Given the description of an element on the screen output the (x, y) to click on. 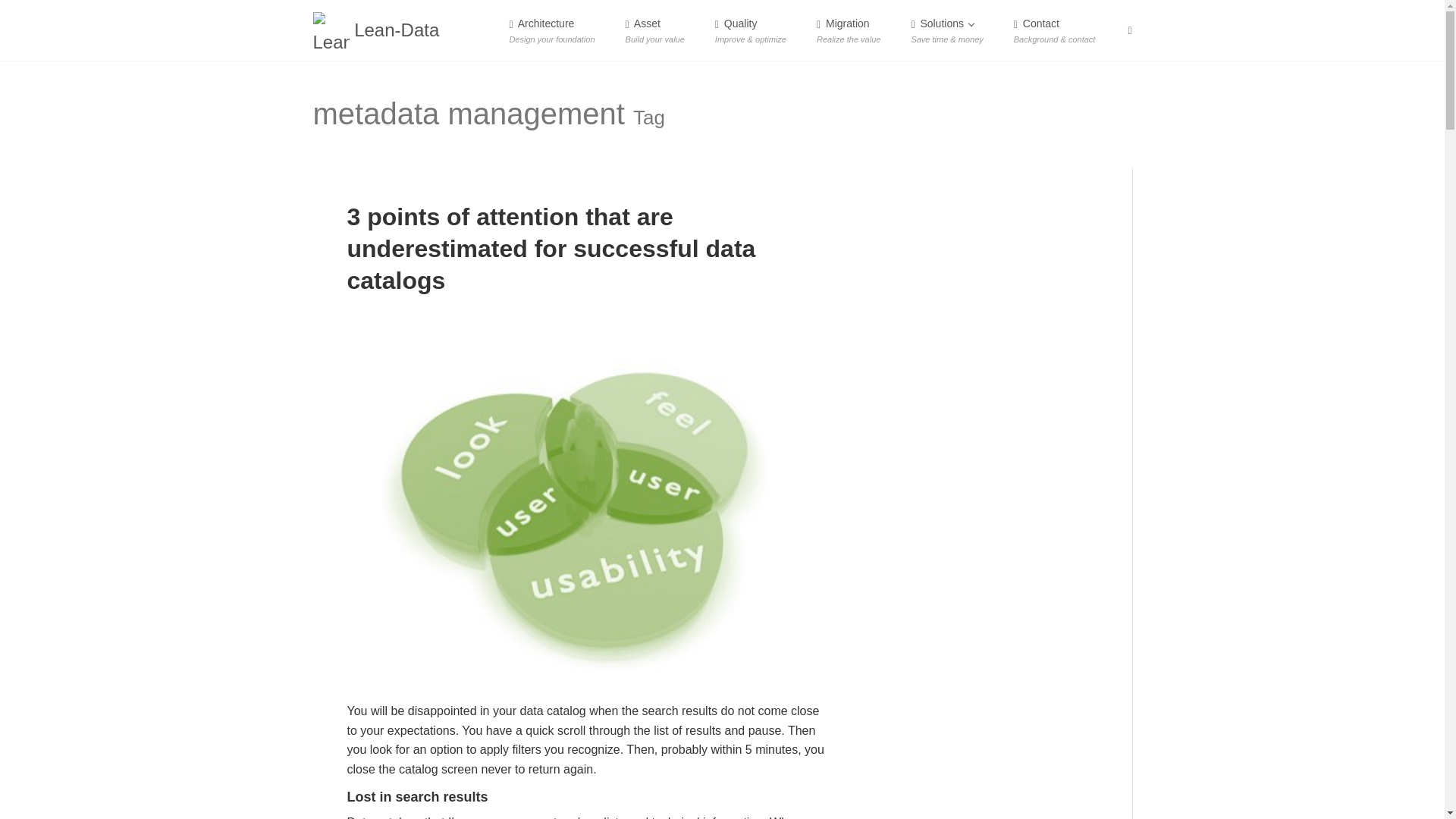
Data Quality (655, 30)
Lean-Data (751, 30)
Top (376, 30)
Data Asset (1408, 782)
